Given the description of an element on the screen output the (x, y) to click on. 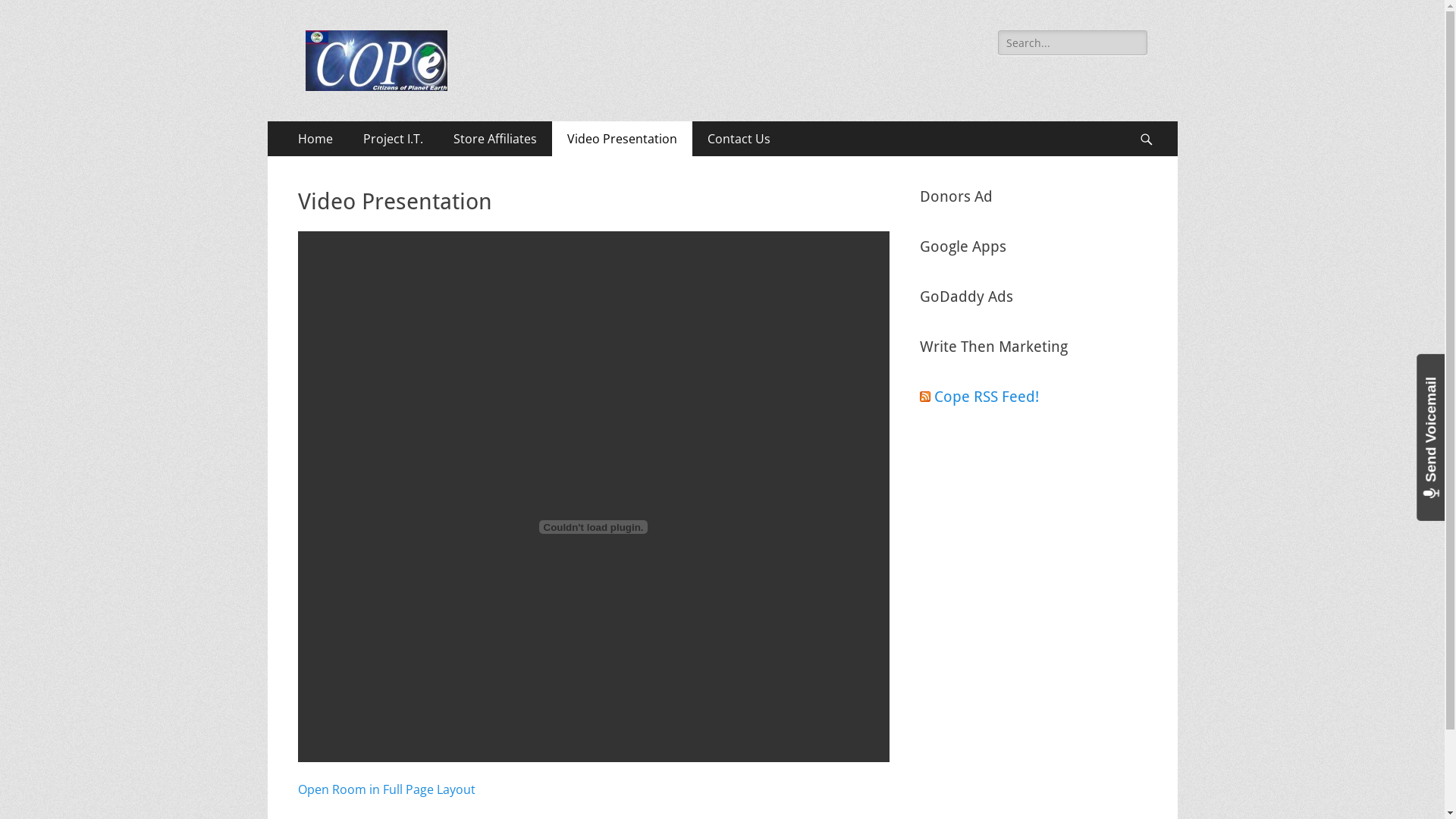
Search Element type: text (1154, 121)
Search Element type: text (24, 9)
Store Affiliates Element type: text (495, 138)
Search for: Element type: hover (1072, 42)
Project I.T. Element type: text (392, 138)
Cope RSS Feed! Element type: text (986, 396)
Video Presentation Element type: text (622, 138)
Open Room in Full Page Layout Element type: text (385, 789)
Home Element type: text (314, 138)
Contact Us Element type: text (737, 138)
